Given the description of an element on the screen output the (x, y) to click on. 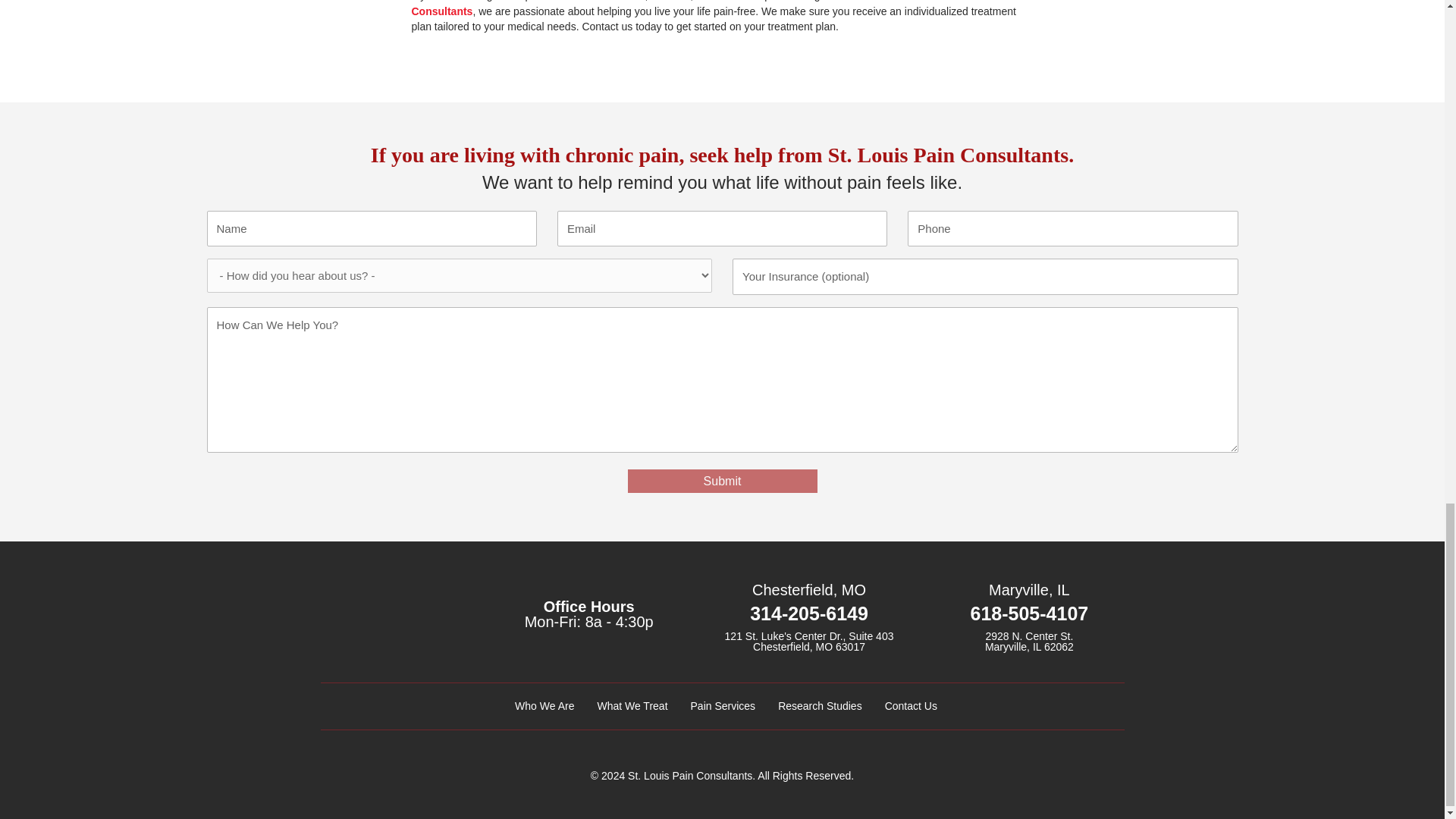
Submit (721, 481)
314-205-6149 (808, 613)
stlouis-pain-consultants-white (391, 619)
618-505-4107 (1030, 613)
